Given the description of an element on the screen output the (x, y) to click on. 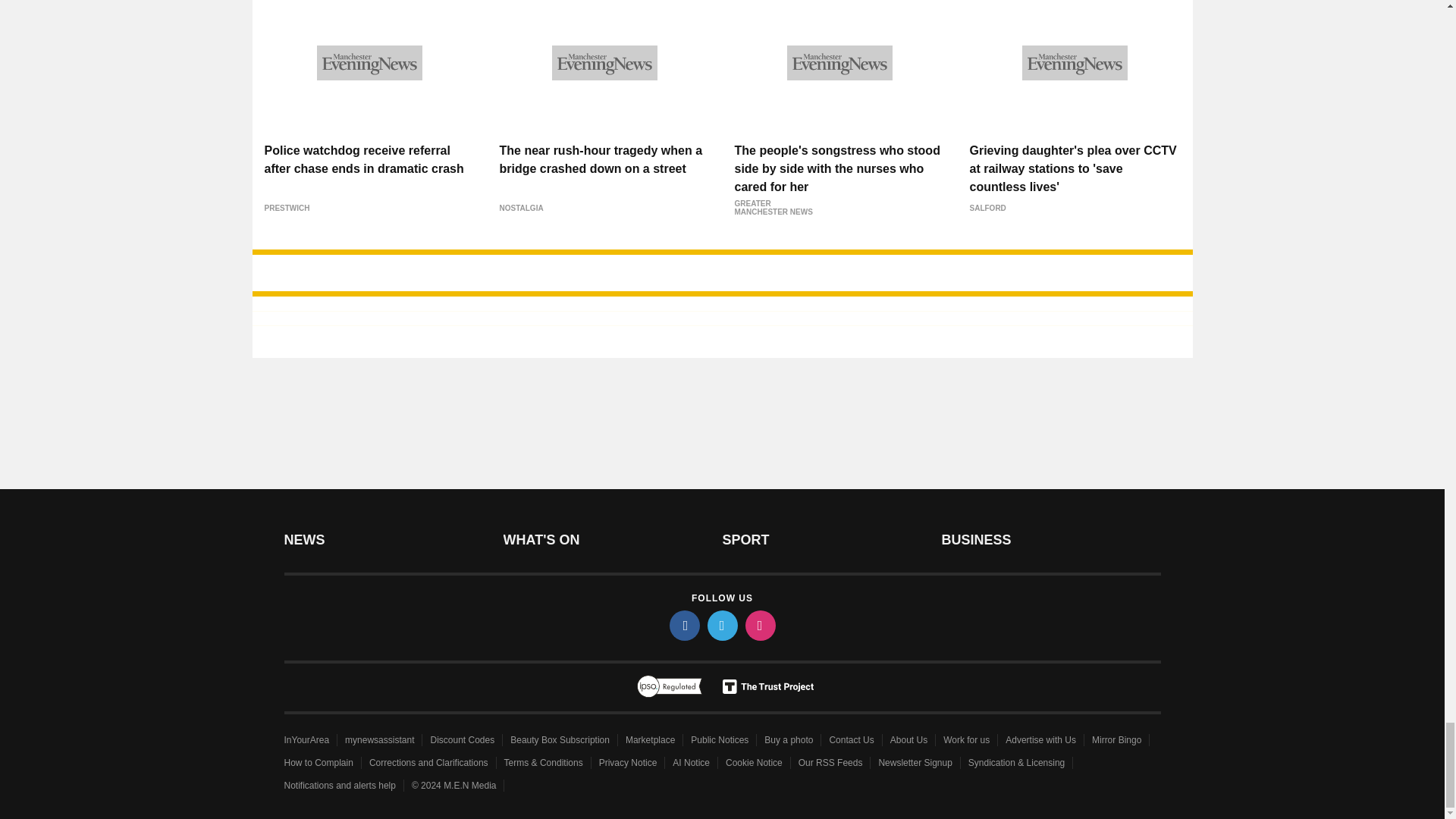
twitter (721, 625)
facebook (683, 625)
instagram (759, 625)
